Given the description of an element on the screen output the (x, y) to click on. 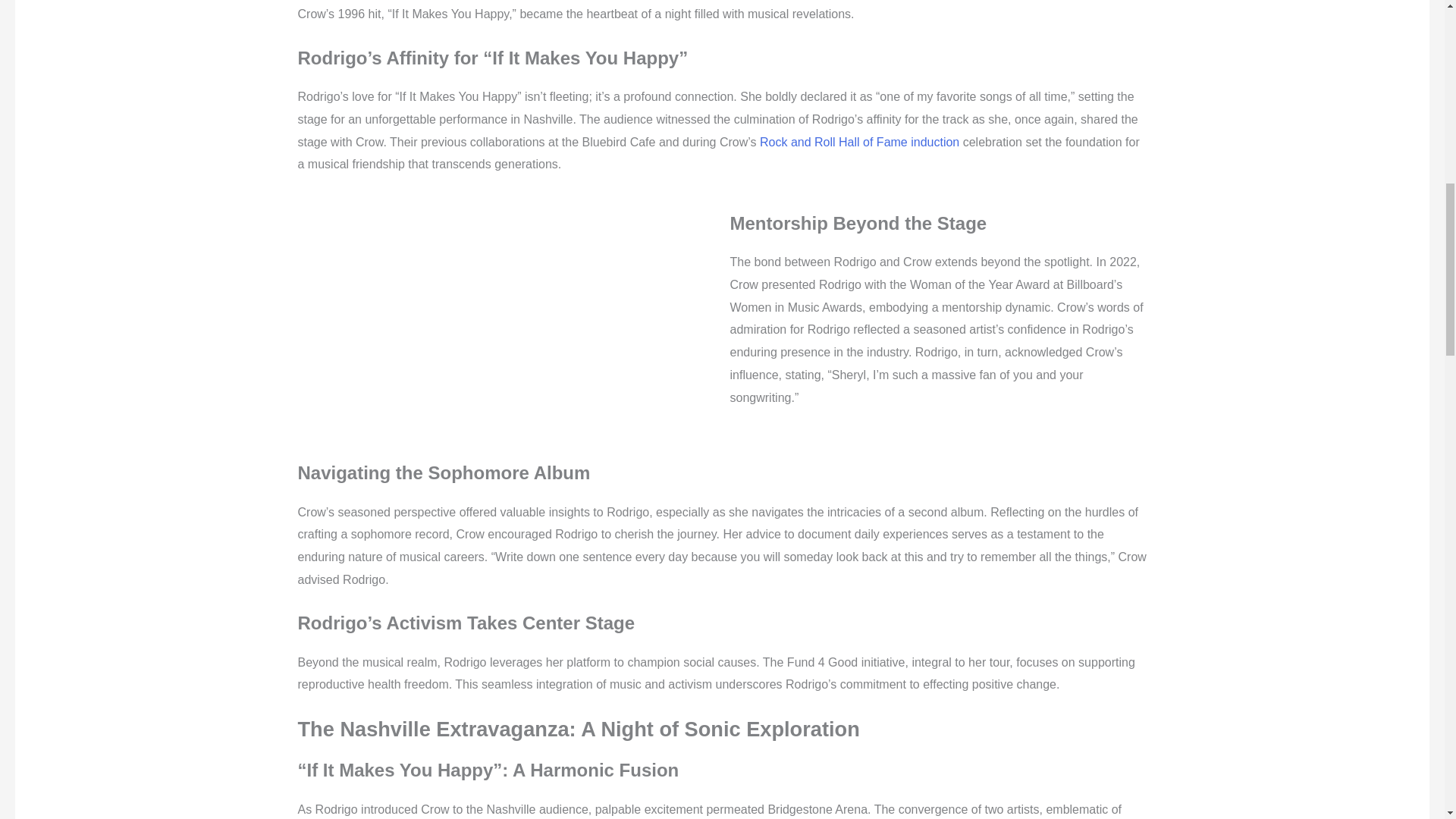
Rock and Roll Hall of Fame induction (859, 141)
